Given the description of an element on the screen output the (x, y) to click on. 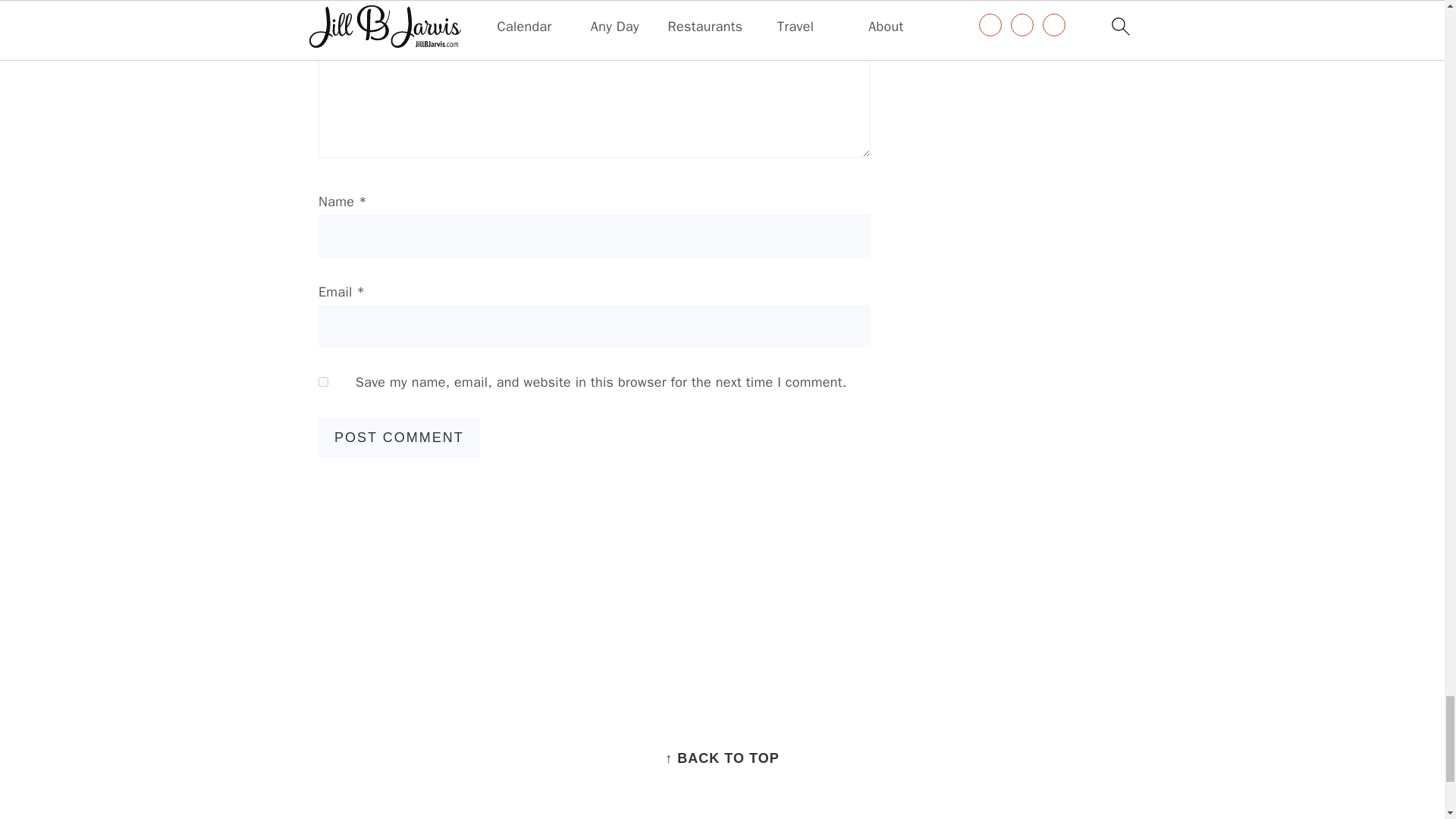
yes (323, 381)
Post Comment (399, 437)
